Given the description of an element on the screen output the (x, y) to click on. 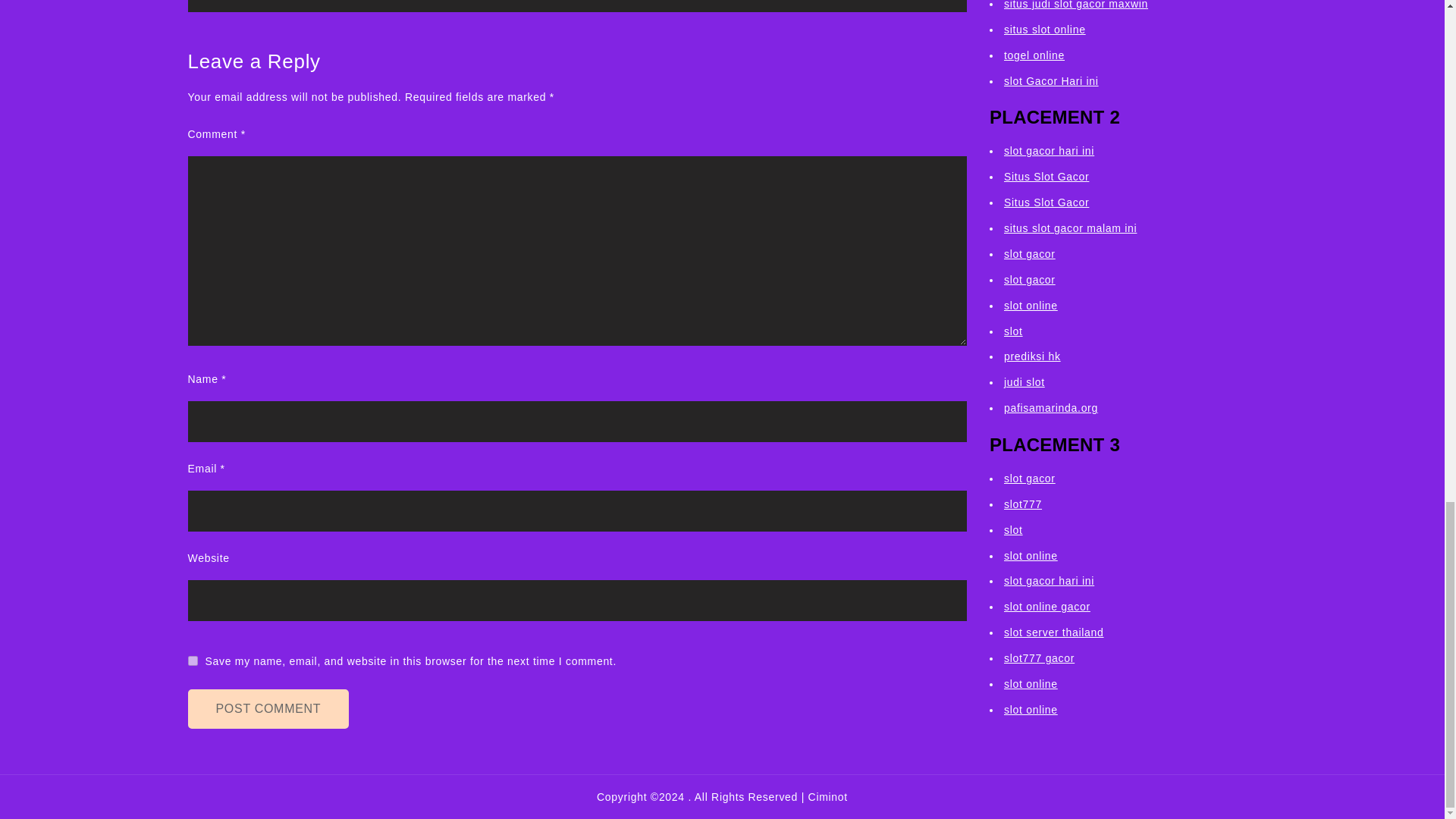
yes (192, 660)
Post Comment (268, 708)
Post Comment (268, 708)
